Given the description of an element on the screen output the (x, y) to click on. 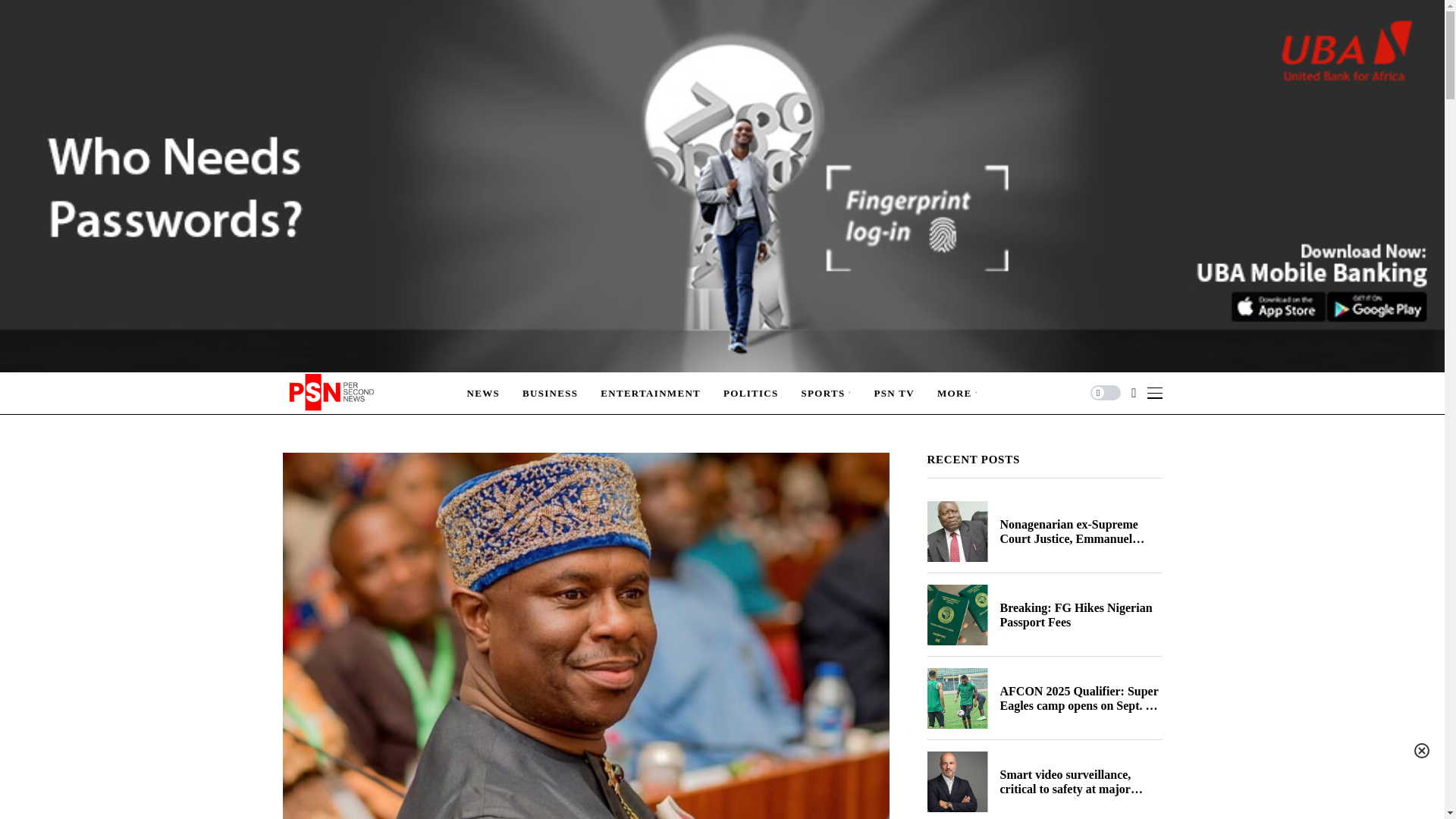
SPORTS (826, 393)
PSN TV (893, 393)
MORE (957, 393)
BUSINESS (550, 393)
POLITICS (750, 393)
ENTERTAINMENT (649, 393)
